Given the description of an element on the screen output the (x, y) to click on. 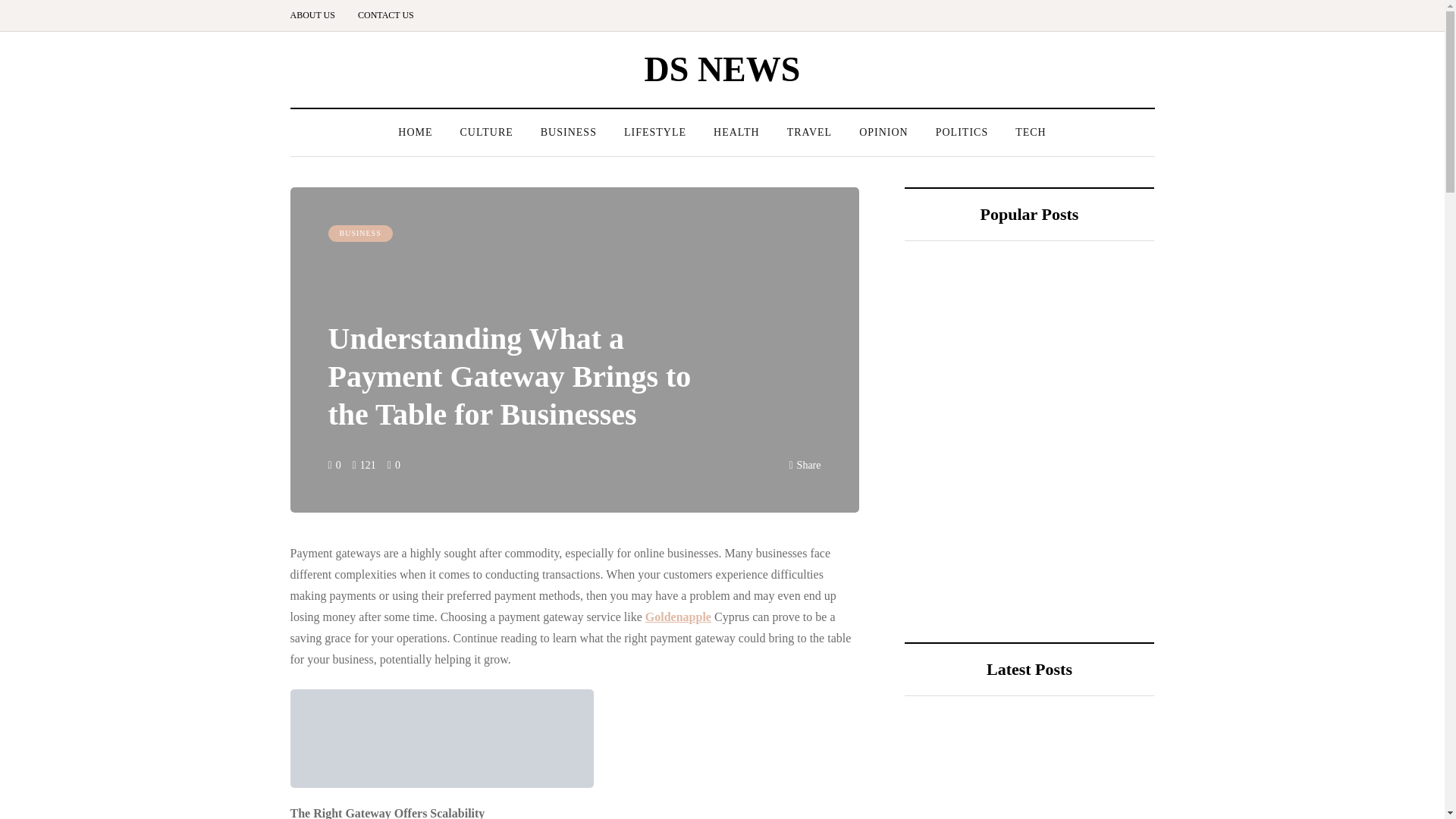
POLITICS (961, 132)
HEALTH (736, 132)
CULTURE (485, 132)
TECH (1030, 132)
HOME (414, 132)
OPINION (883, 132)
DS NEWS (722, 68)
BUSINESS (568, 132)
BUSINESS (359, 233)
Goldenapple (678, 616)
